Given the description of an element on the screen output the (x, y) to click on. 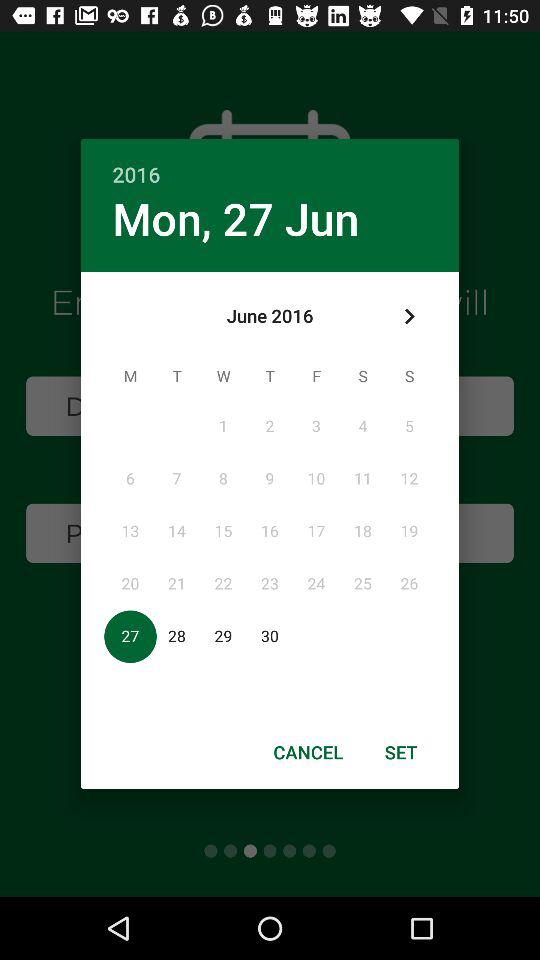
flip to the cancel item (308, 751)
